Given the description of an element on the screen output the (x, y) to click on. 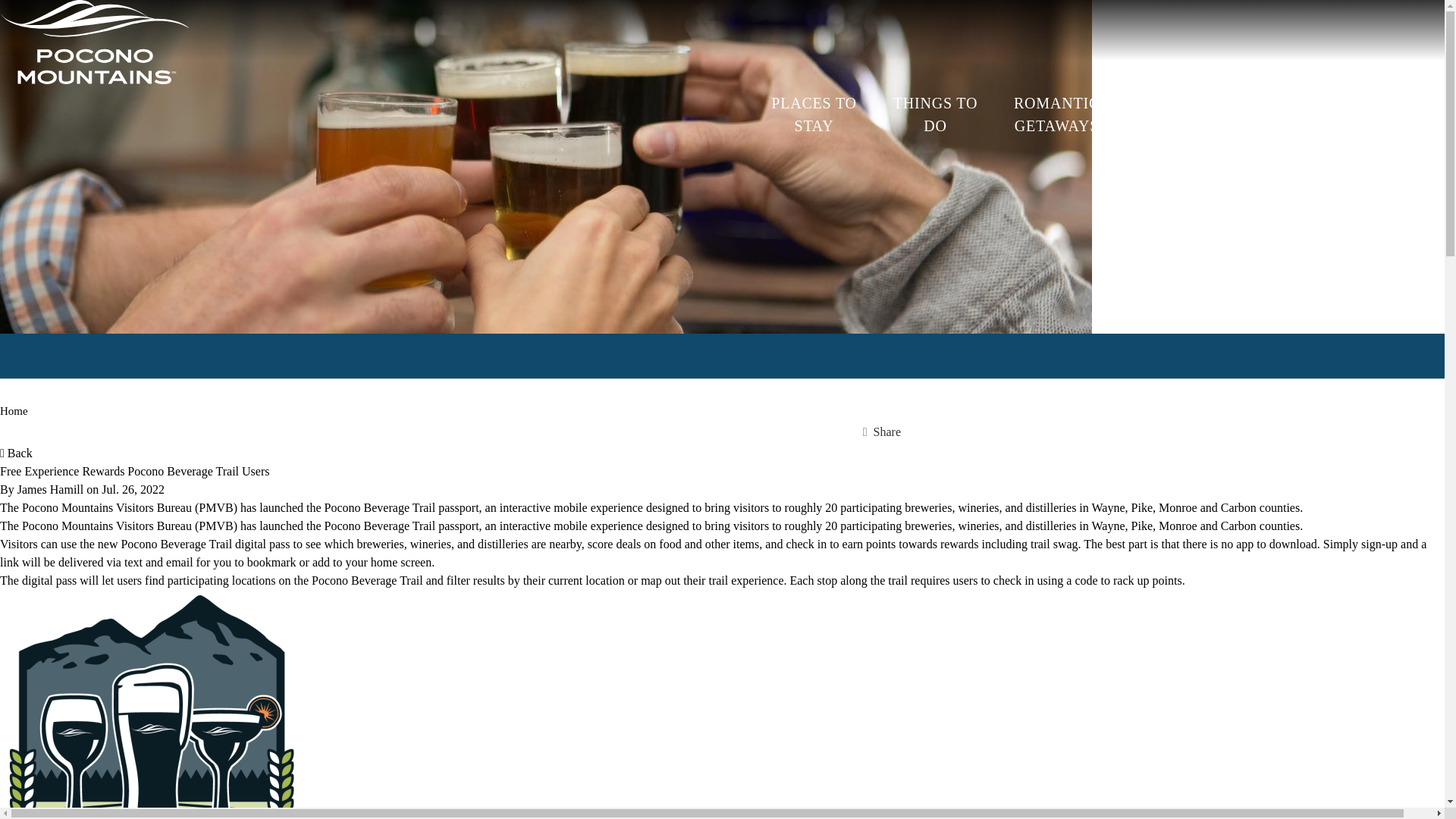
THINGS TO DO (935, 114)
ROMANTIC GETAWAYS (1056, 114)
PLACES TO STAY (814, 114)
FAMILY VACATIONS (1178, 114)
PLAN YOUR VACATION (1383, 114)
EVENTS (1281, 114)
